Given the description of an element on the screen output the (x, y) to click on. 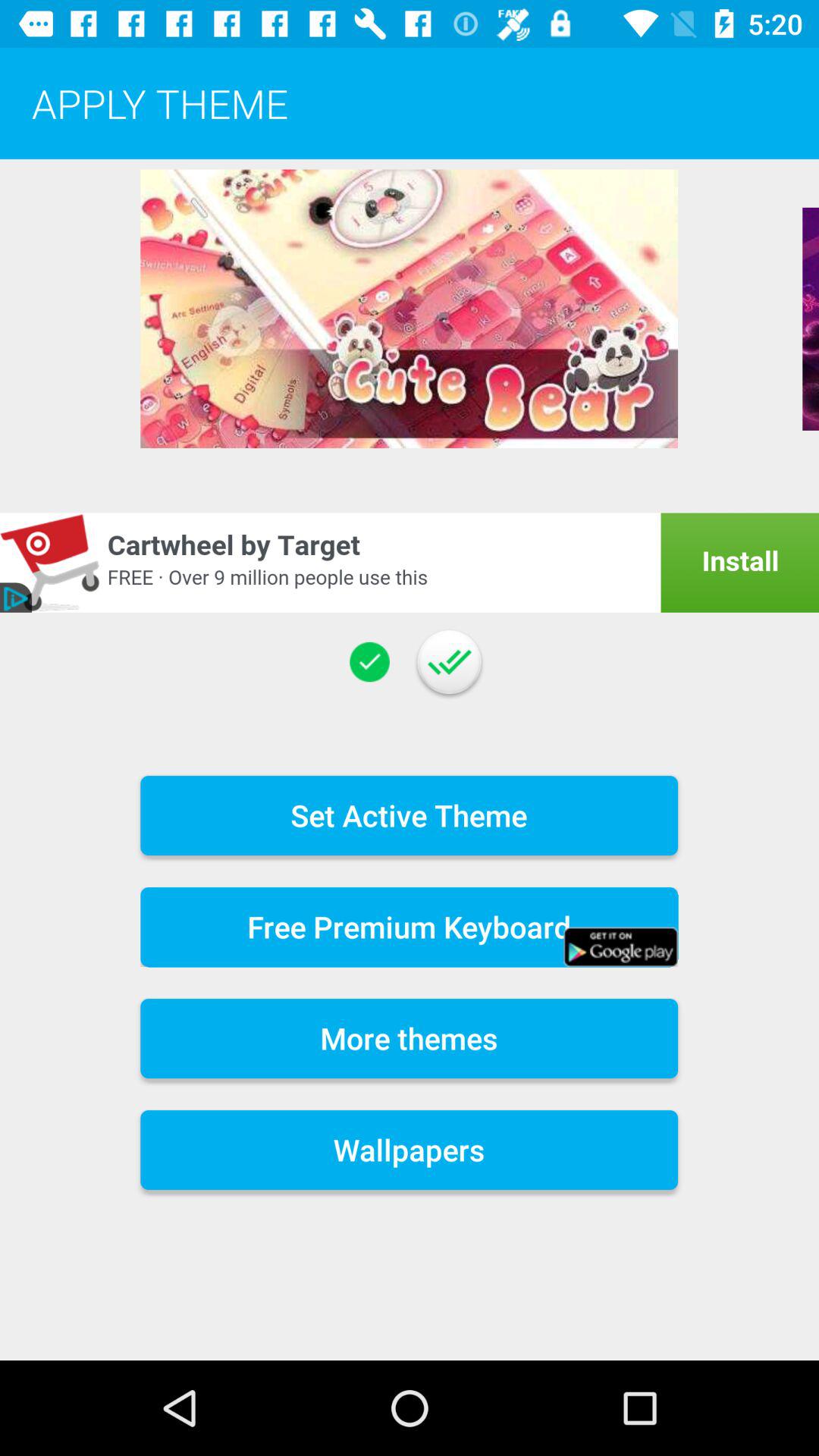
launch wallpapers (408, 1149)
